Given the description of an element on the screen output the (x, y) to click on. 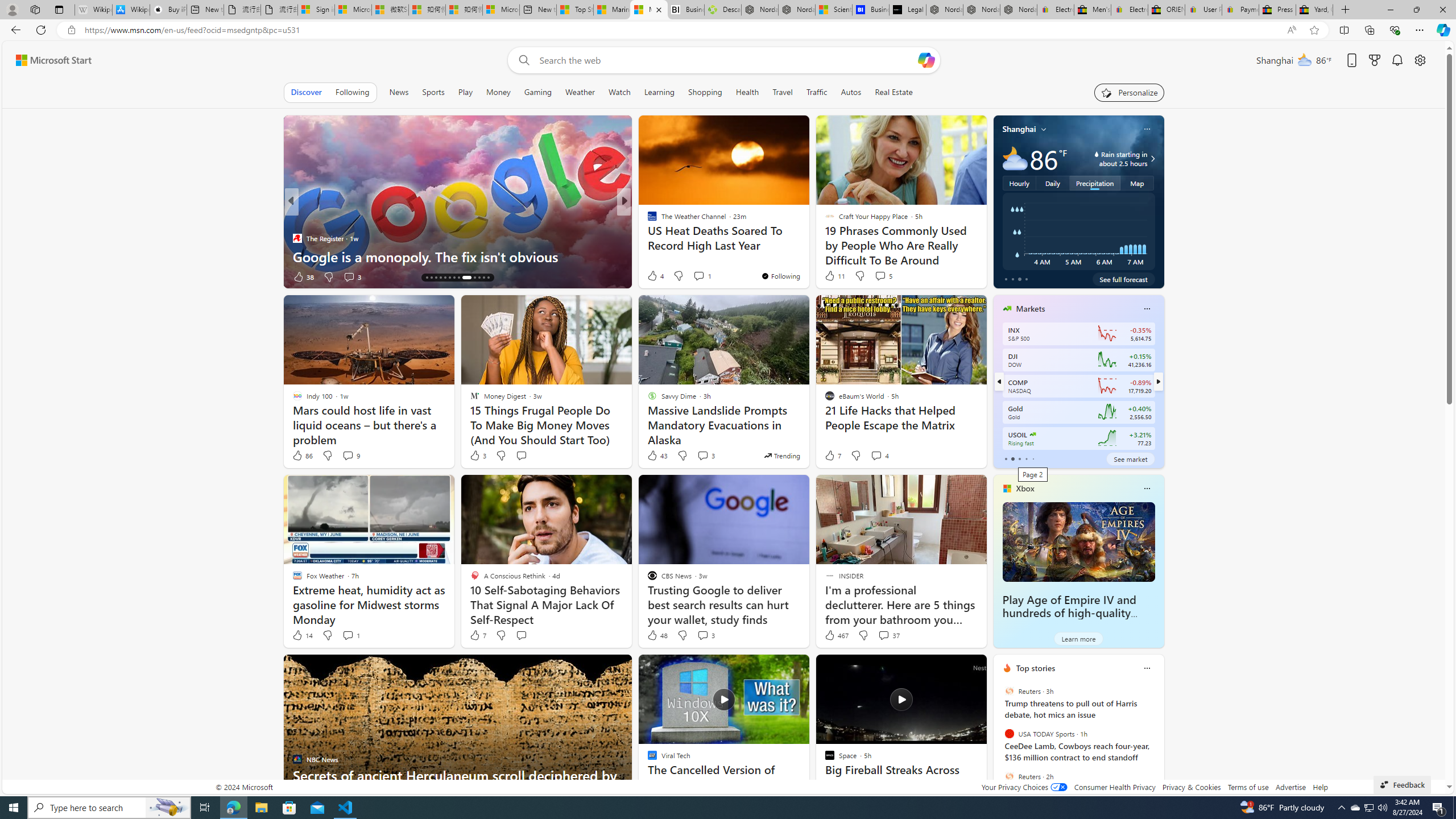
AutomationID: tab-24 (478, 277)
The Cool Down (647, 219)
View comments 3 Comment (703, 635)
4 Like (655, 275)
previous (998, 741)
123 Like (654, 276)
tab-2 (1019, 458)
Markets (1030, 308)
